Given the description of an element on the screen output the (x, y) to click on. 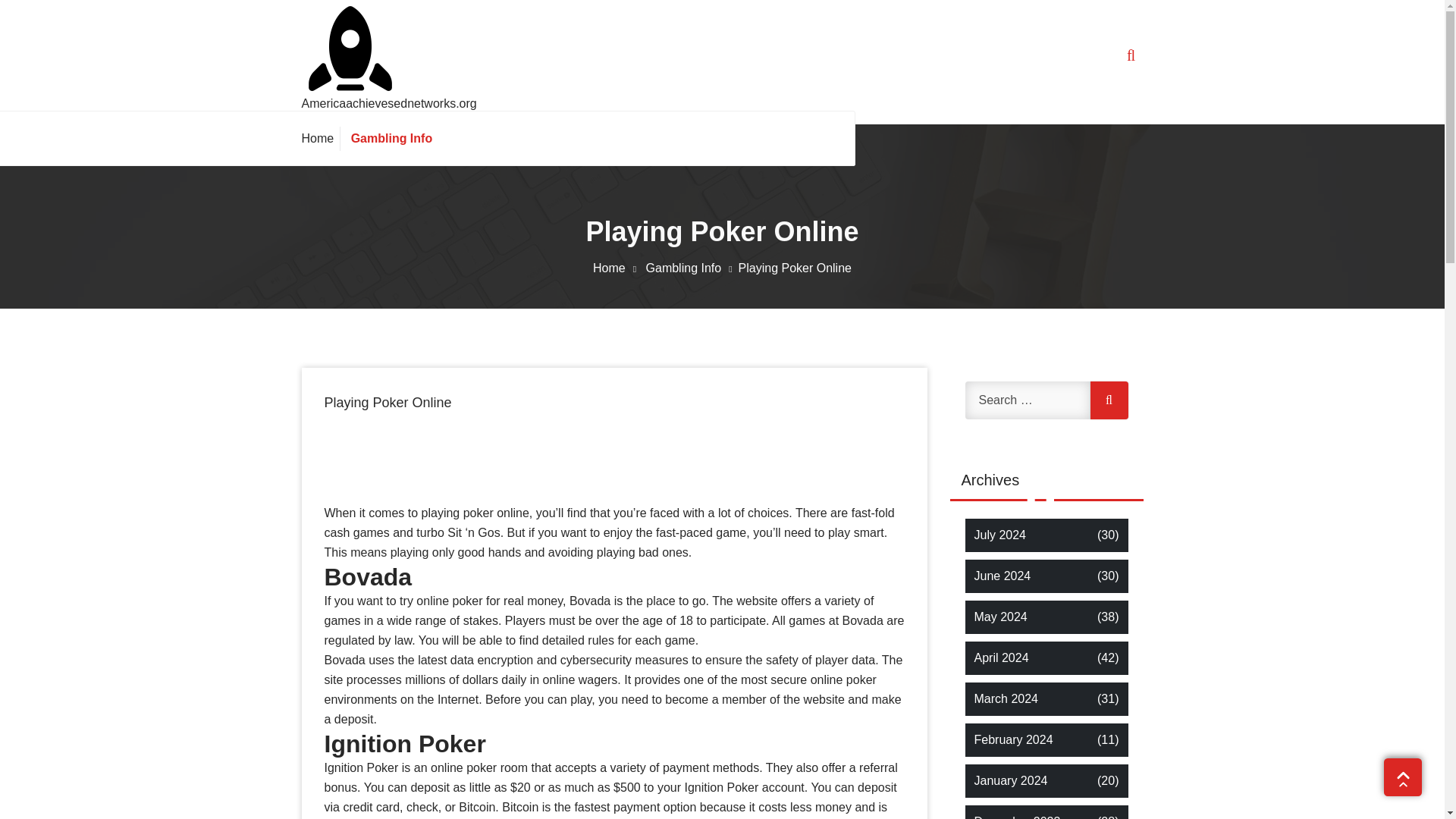
Gambling Info (388, 138)
Gambling Info (692, 267)
Home (617, 267)
December 2023 (1016, 816)
Home (320, 138)
April 2024 (1000, 658)
Home (320, 138)
Gambling Info (388, 138)
July 2024 (1000, 535)
January 2024 (1010, 781)
May 2024 (1000, 617)
February 2024 (1013, 740)
March 2024 (1006, 699)
June 2024 (1002, 576)
